Given the description of an element on the screen output the (x, y) to click on. 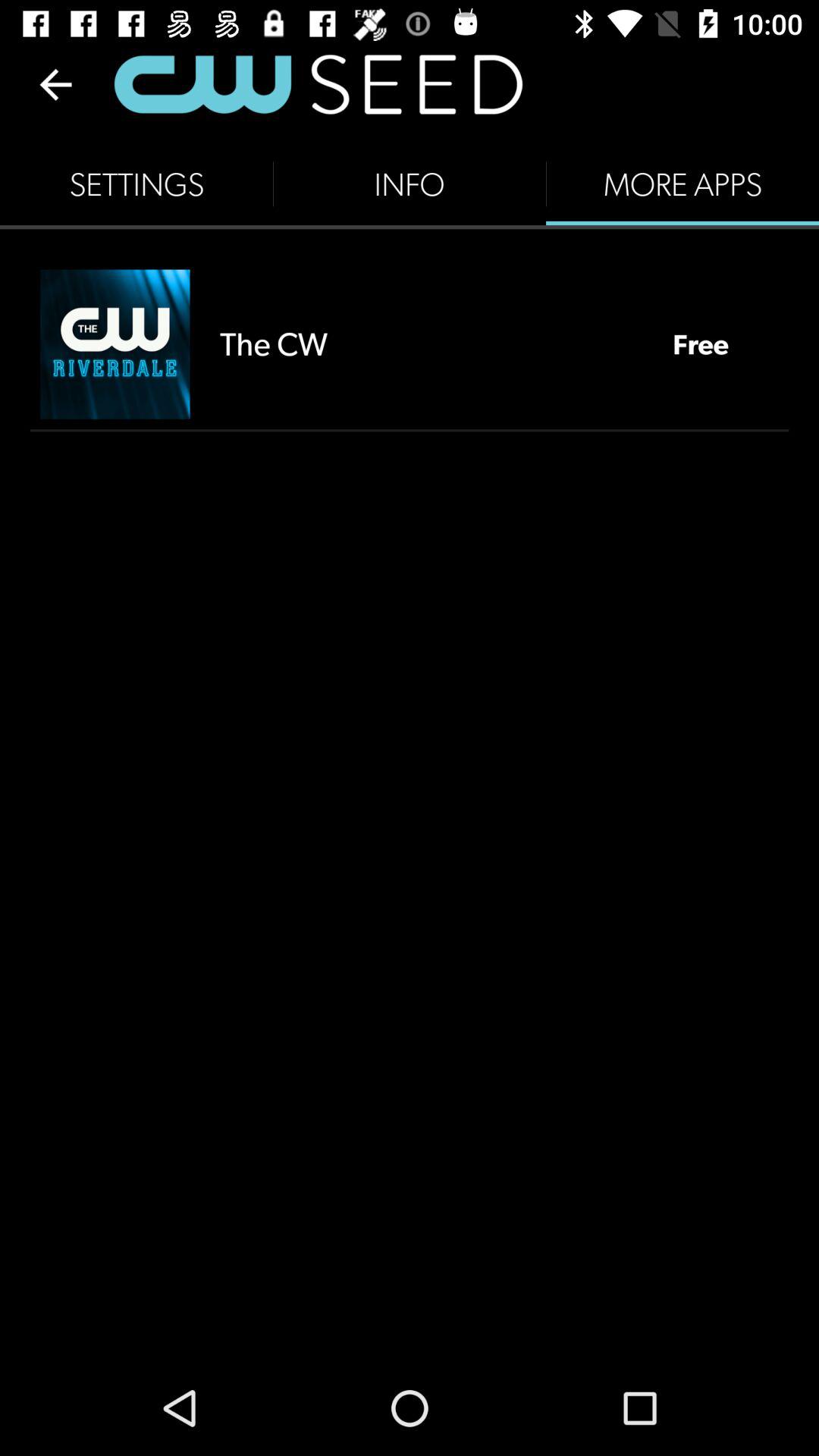
swipe until settings item (136, 184)
